Given the description of an element on the screen output the (x, y) to click on. 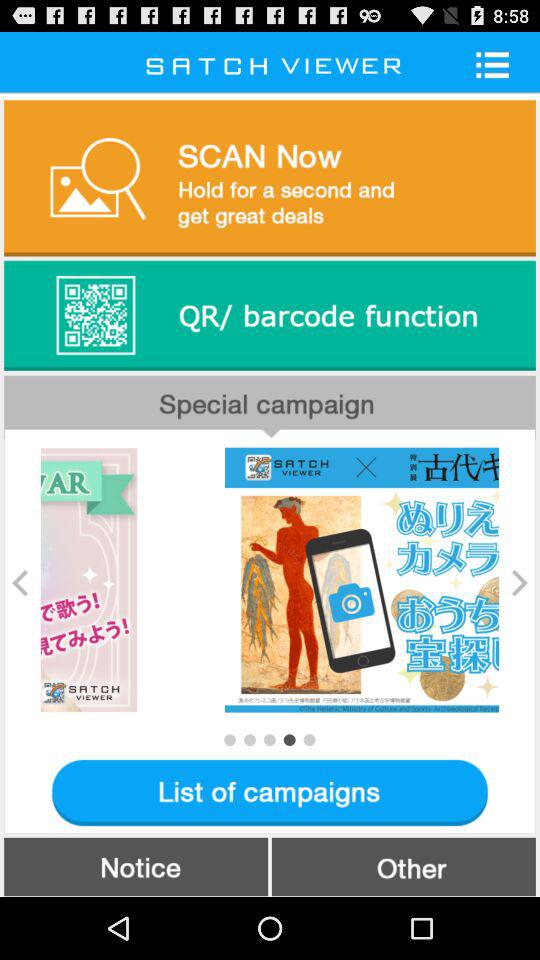
click the icon on the right (519, 582)
